Given the description of an element on the screen output the (x, y) to click on. 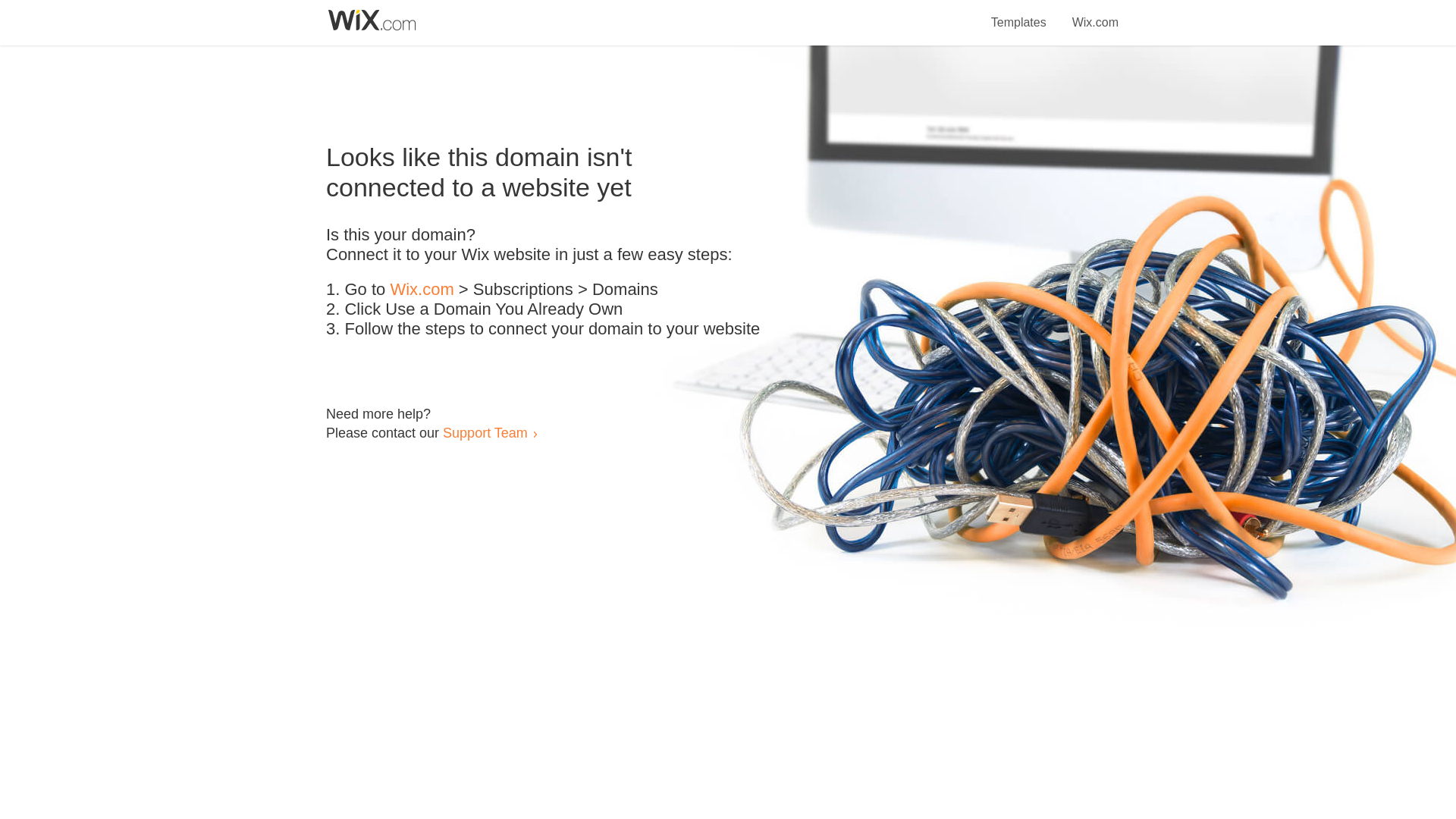
Wix.com (421, 289)
Support Team (484, 432)
Templates (1018, 14)
Wix.com (1095, 14)
